Given the description of an element on the screen output the (x, y) to click on. 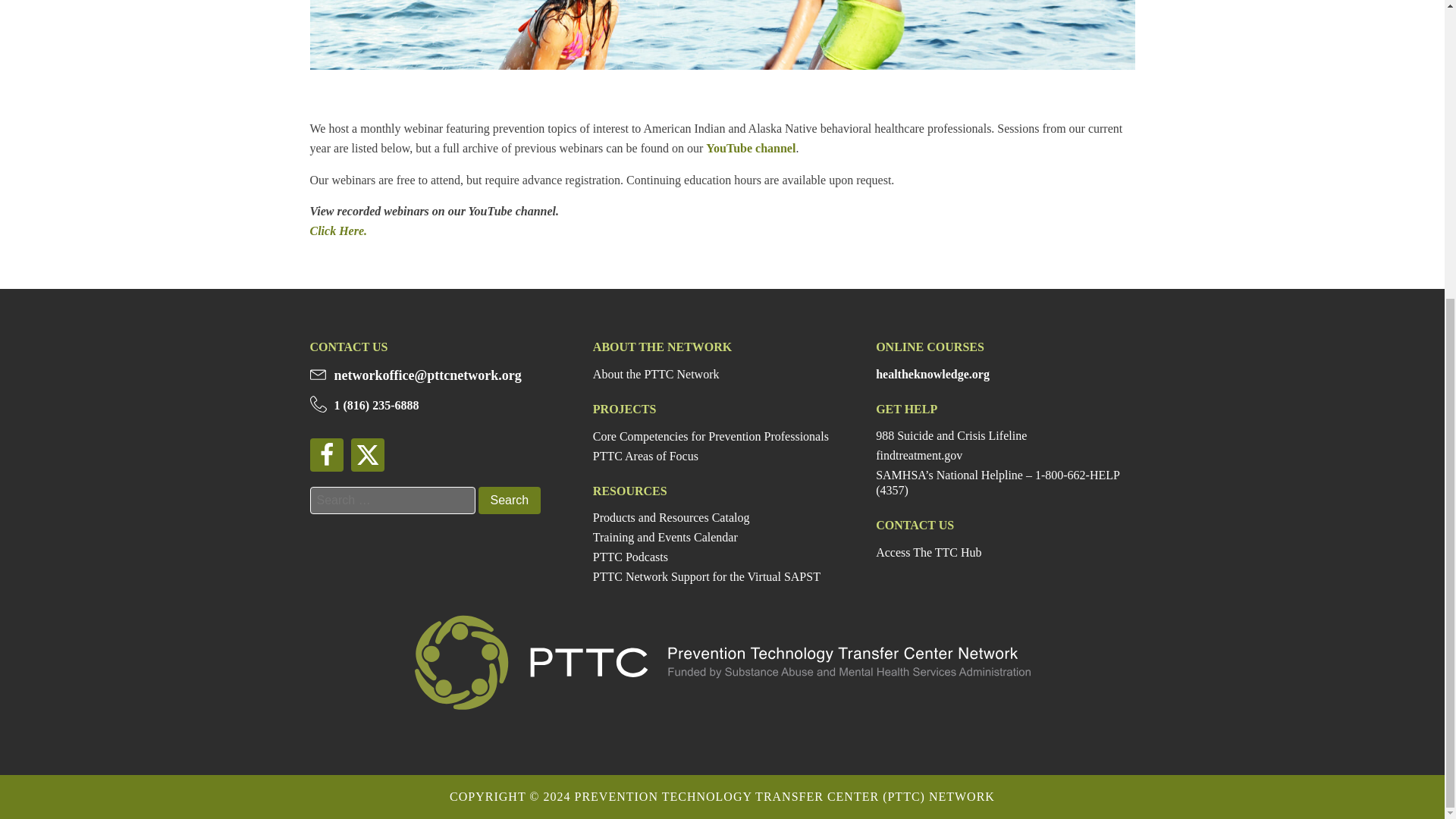
Search (508, 500)
Search (508, 500)
